Given the description of an element on the screen output the (x, y) to click on. 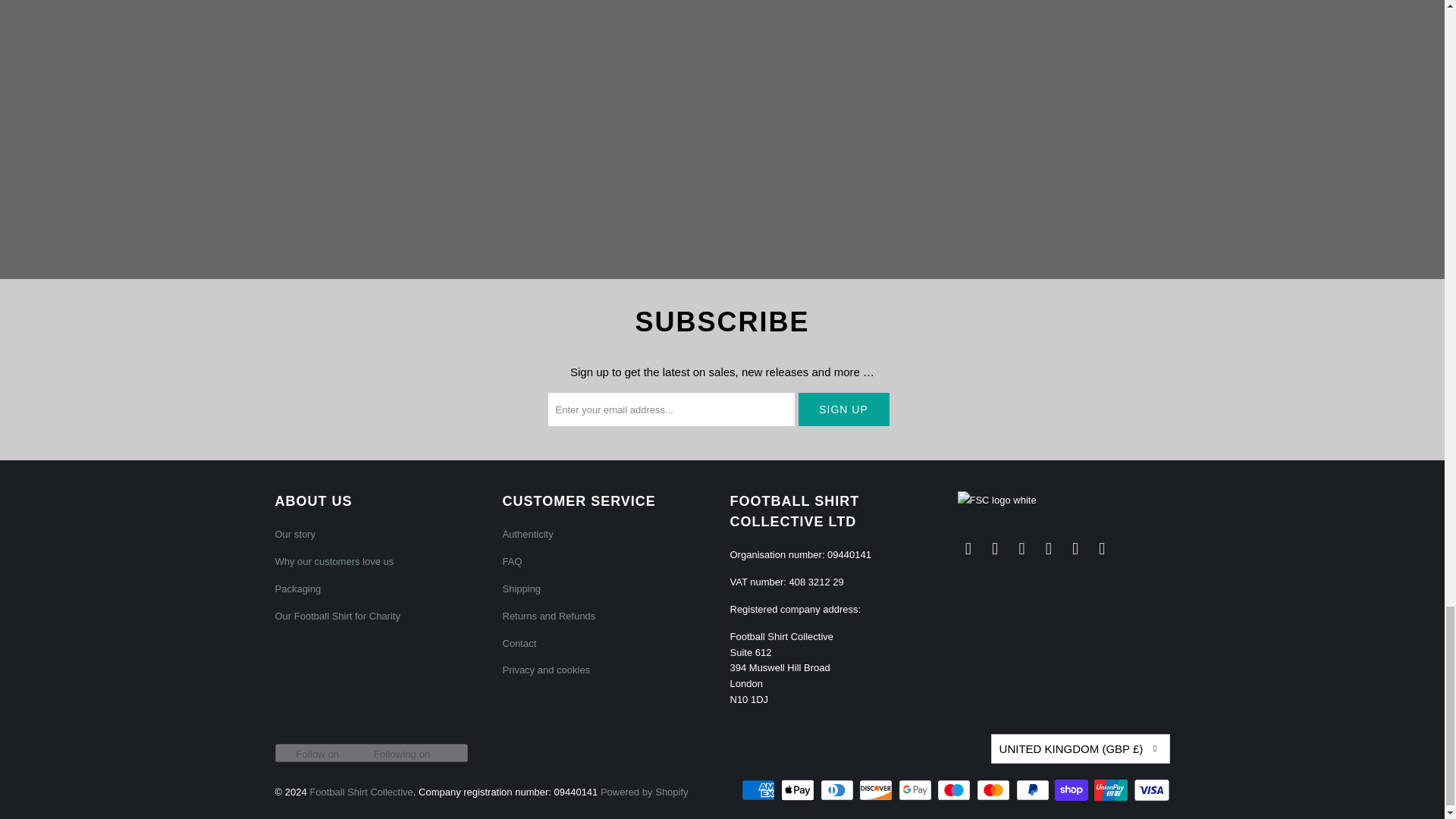
Union Pay (1112, 789)
American Express (759, 789)
Sign Up (842, 409)
Maestro (955, 789)
Shop Pay (1072, 789)
Apple Pay (798, 789)
Visa (1150, 789)
Mastercard (994, 789)
Google Pay (916, 789)
Discover (877, 789)
